Given the description of an element on the screen output the (x, y) to click on. 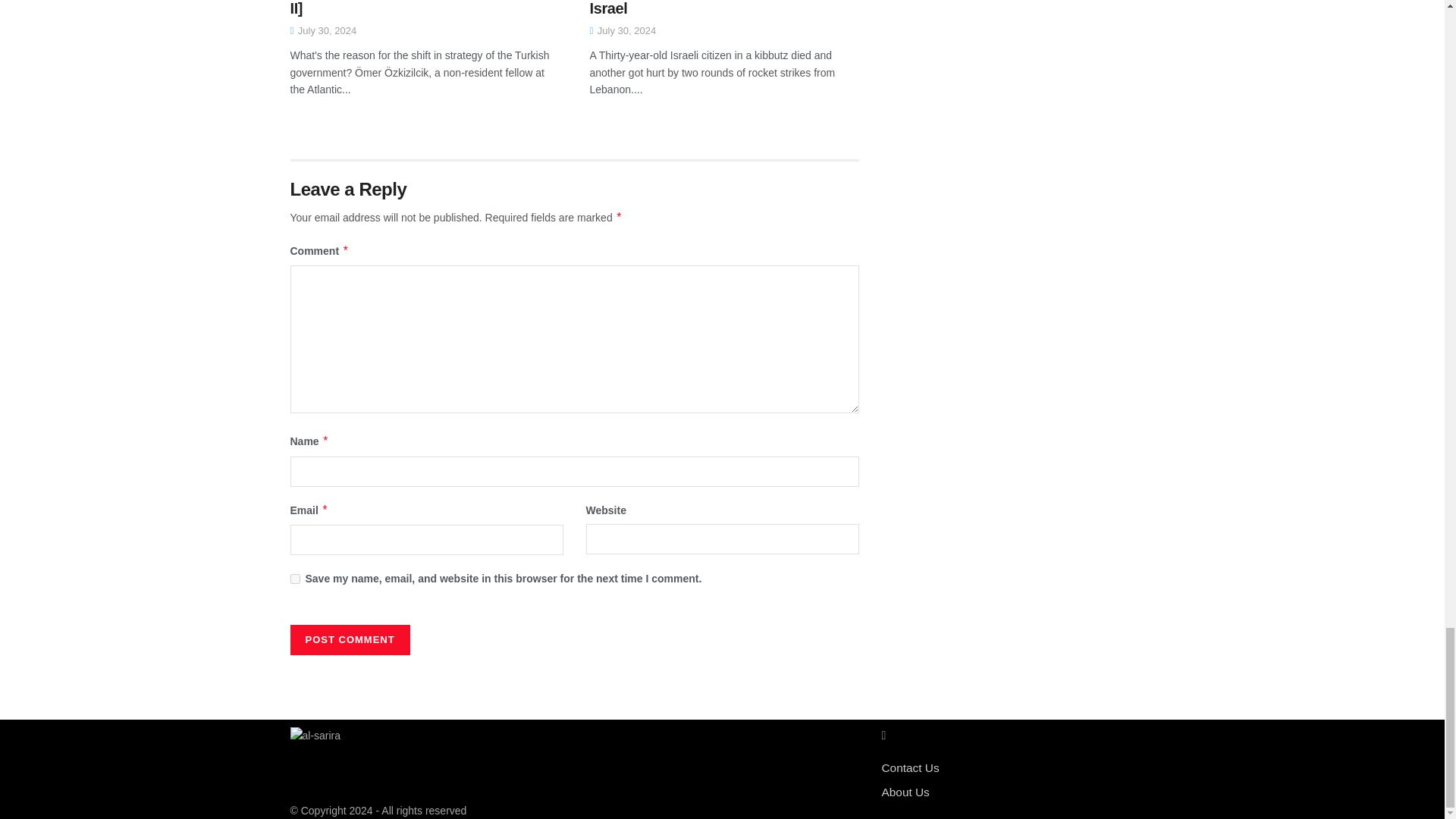
al-sarira (314, 734)
Post Comment (349, 639)
yes (294, 578)
